Given the description of an element on the screen output the (x, y) to click on. 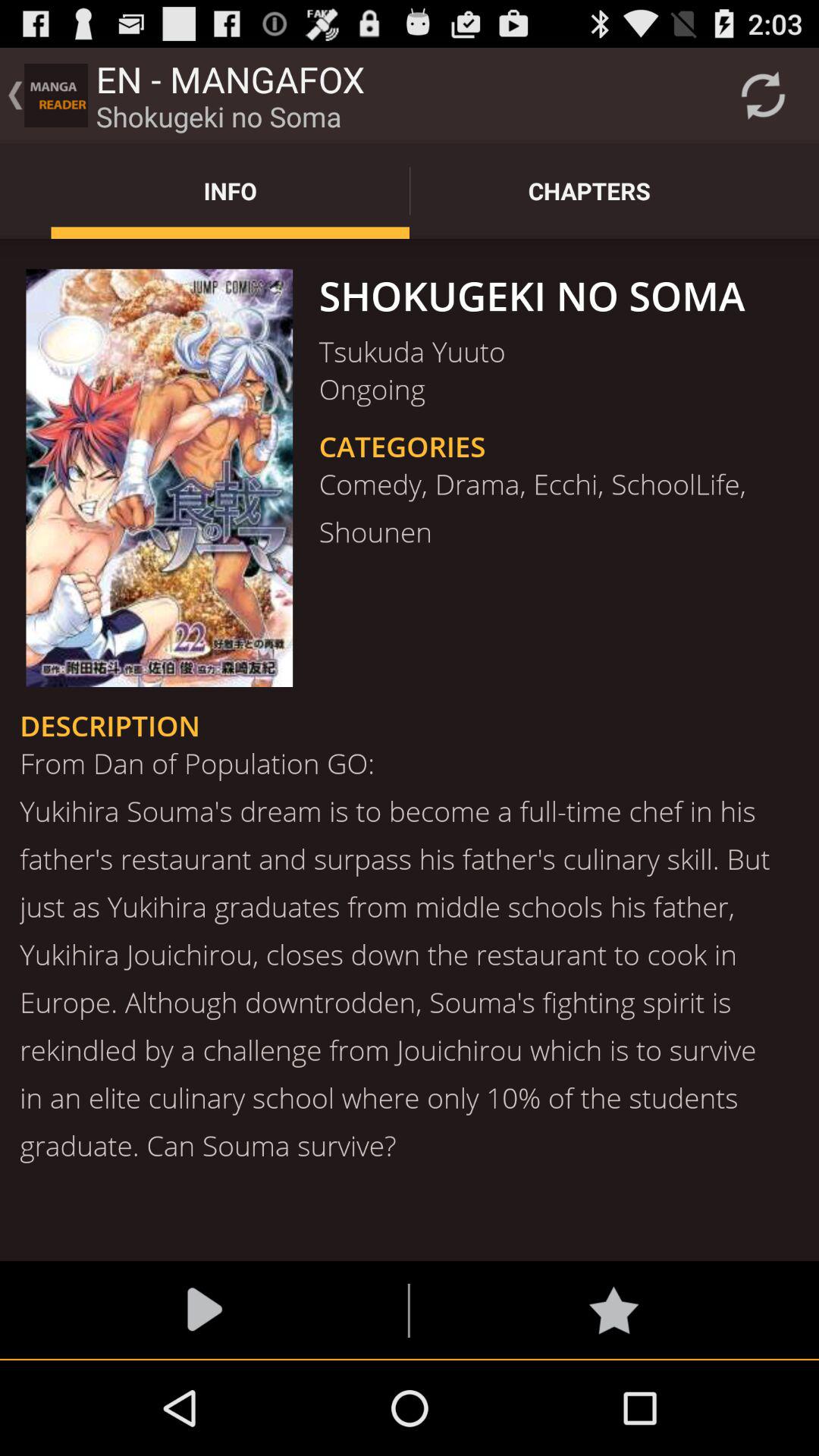
go to star logo at bottom right of page (612, 1310)
click on the text which is to the left side of the chapters (230, 190)
click on the poster (159, 478)
